Given the description of an element on the screen output the (x, y) to click on. 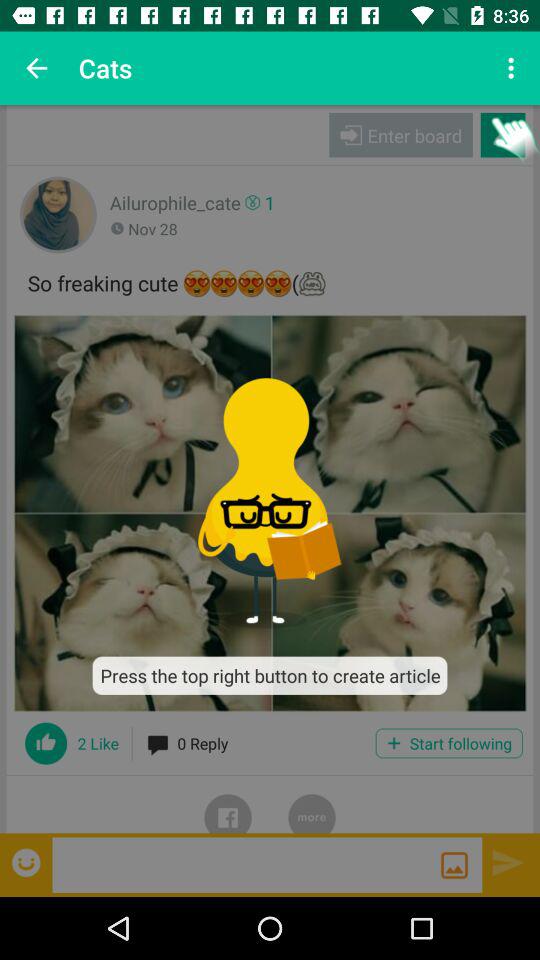
go to more options (312, 804)
